Given the description of an element on the screen output the (x, y) to click on. 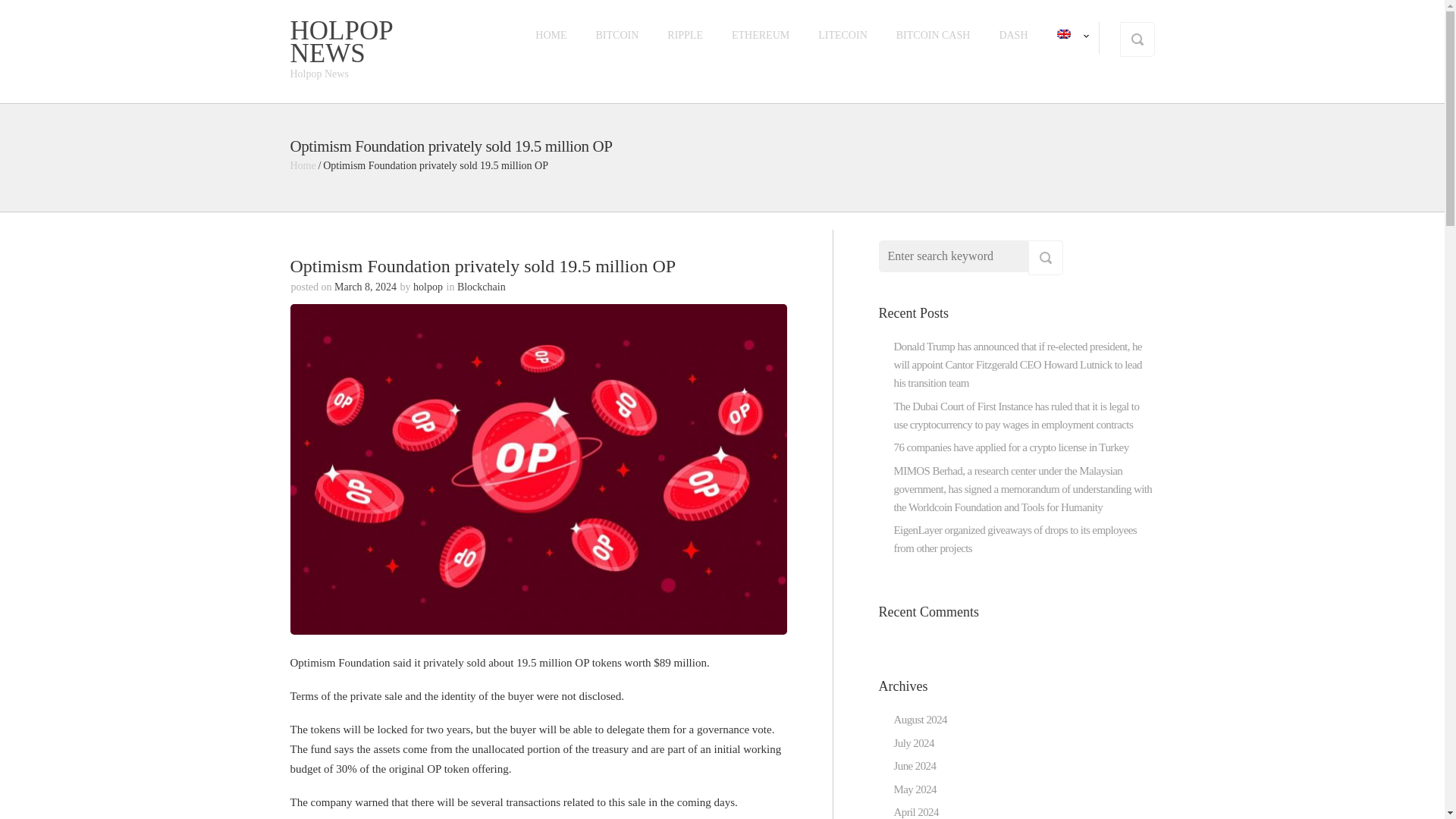
April 2024 (915, 811)
HOLPOP NEWS (340, 41)
BITCOIN (617, 34)
Blockchain (481, 286)
holpop (427, 286)
LITECOIN (842, 34)
English (1063, 33)
July 2024 (913, 743)
